Given the description of an element on the screen output the (x, y) to click on. 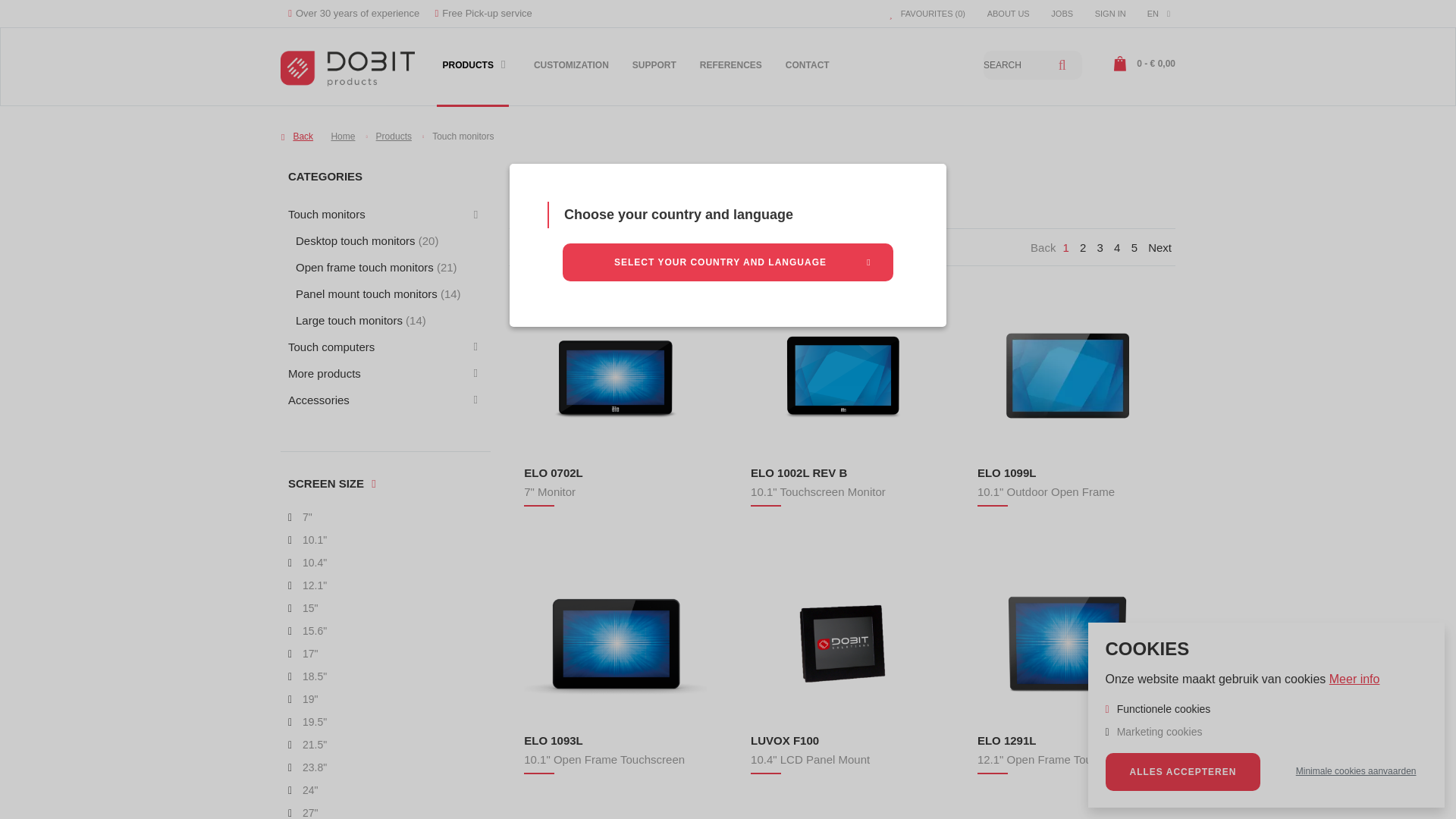
CUSTOMIZATION (570, 73)
SIGN IN (1111, 13)
REFERENCES (731, 73)
JOBS (1062, 13)
EN (1158, 13)
CONTACT (806, 73)
